Given the description of an element on the screen output the (x, y) to click on. 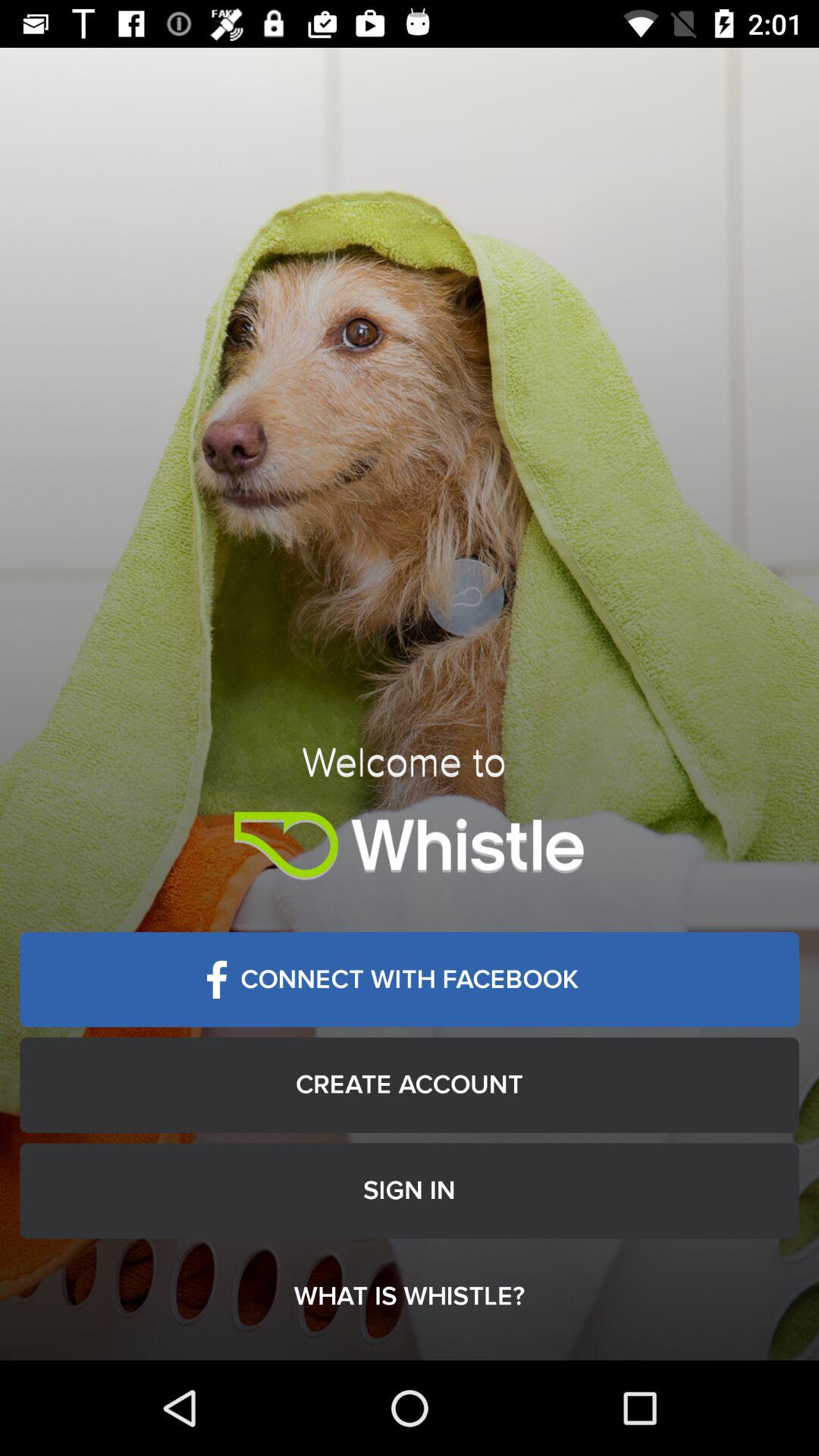
press the connect with facebook (409, 979)
